Given the description of an element on the screen output the (x, y) to click on. 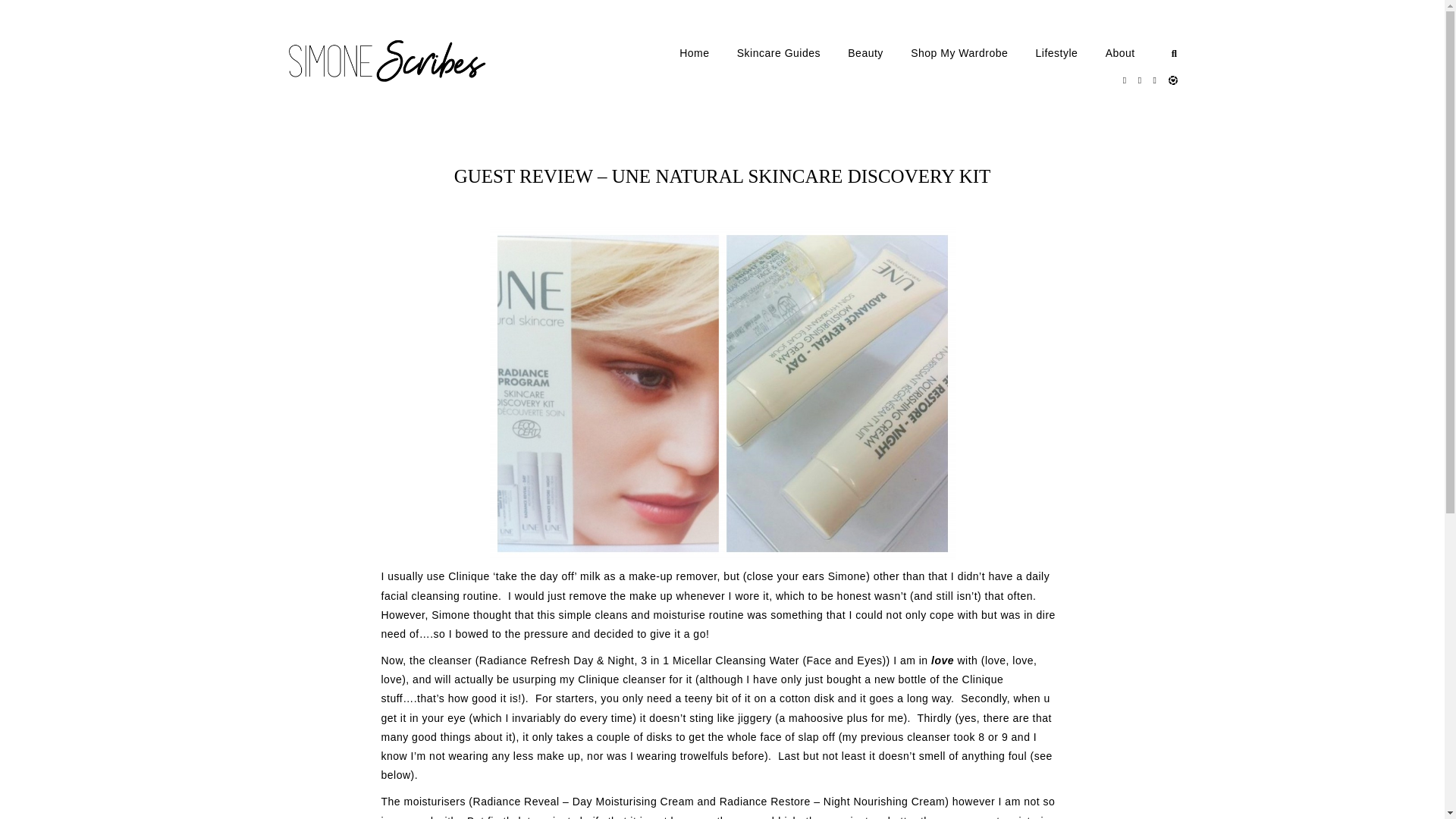
Lifestyle (1069, 53)
Skincare Guides (790, 53)
About (1132, 53)
Home (706, 53)
Shop My Wardrobe (971, 53)
Beauty (877, 53)
